Given the description of an element on the screen output the (x, y) to click on. 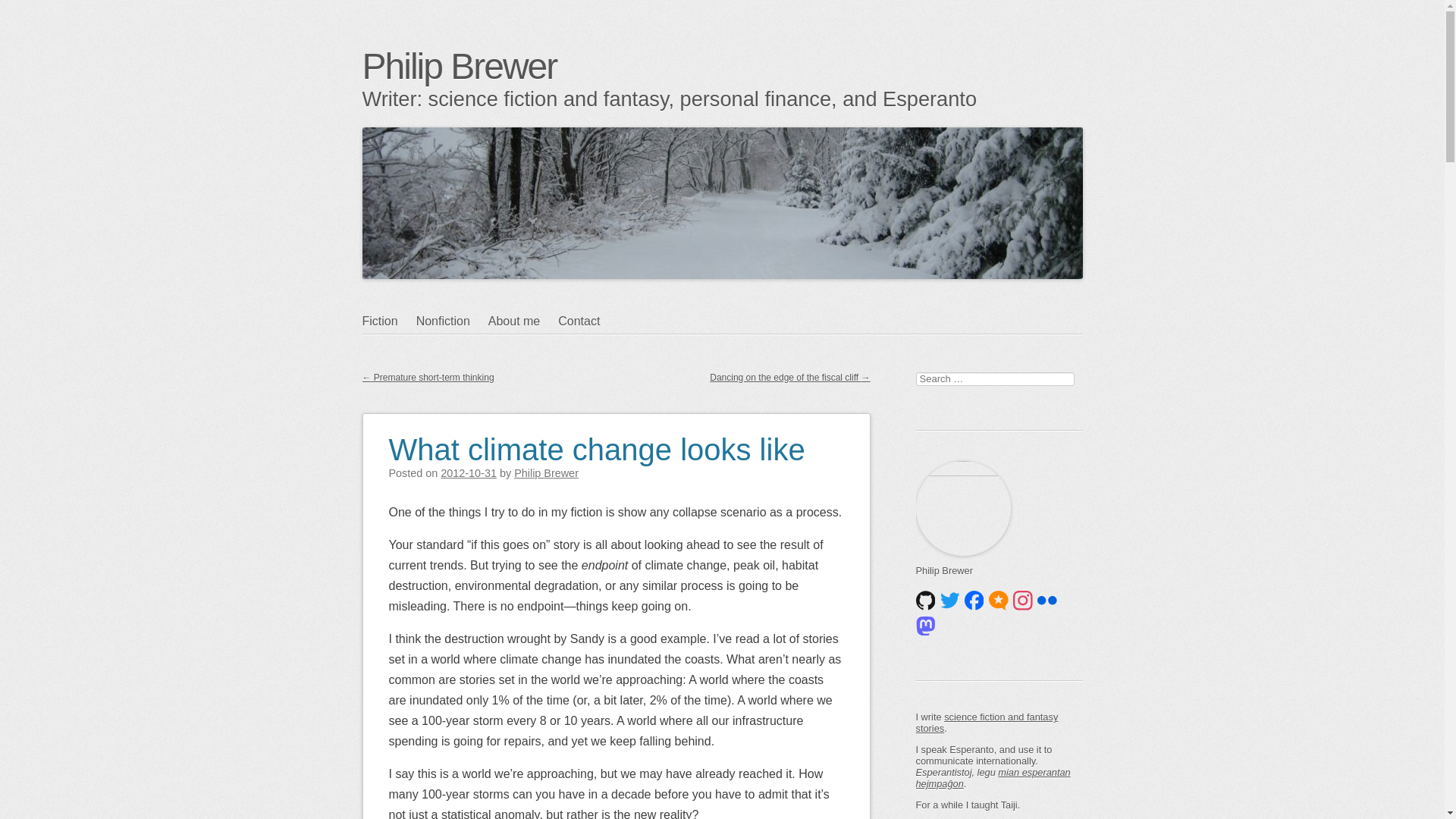
2012-10-31 (468, 472)
Contact (587, 321)
Fiction (389, 321)
Philip Brewer (459, 65)
Permalink to What climate change looks like (596, 440)
Search (24, 10)
Philip Brewer (545, 472)
2:06 pm (468, 472)
What climate change looks like (596, 440)
Nonfiction (451, 321)
GitHub (925, 599)
Main menu (435, 350)
View all posts by Philip Brewer (545, 472)
